Given the description of an element on the screen output the (x, y) to click on. 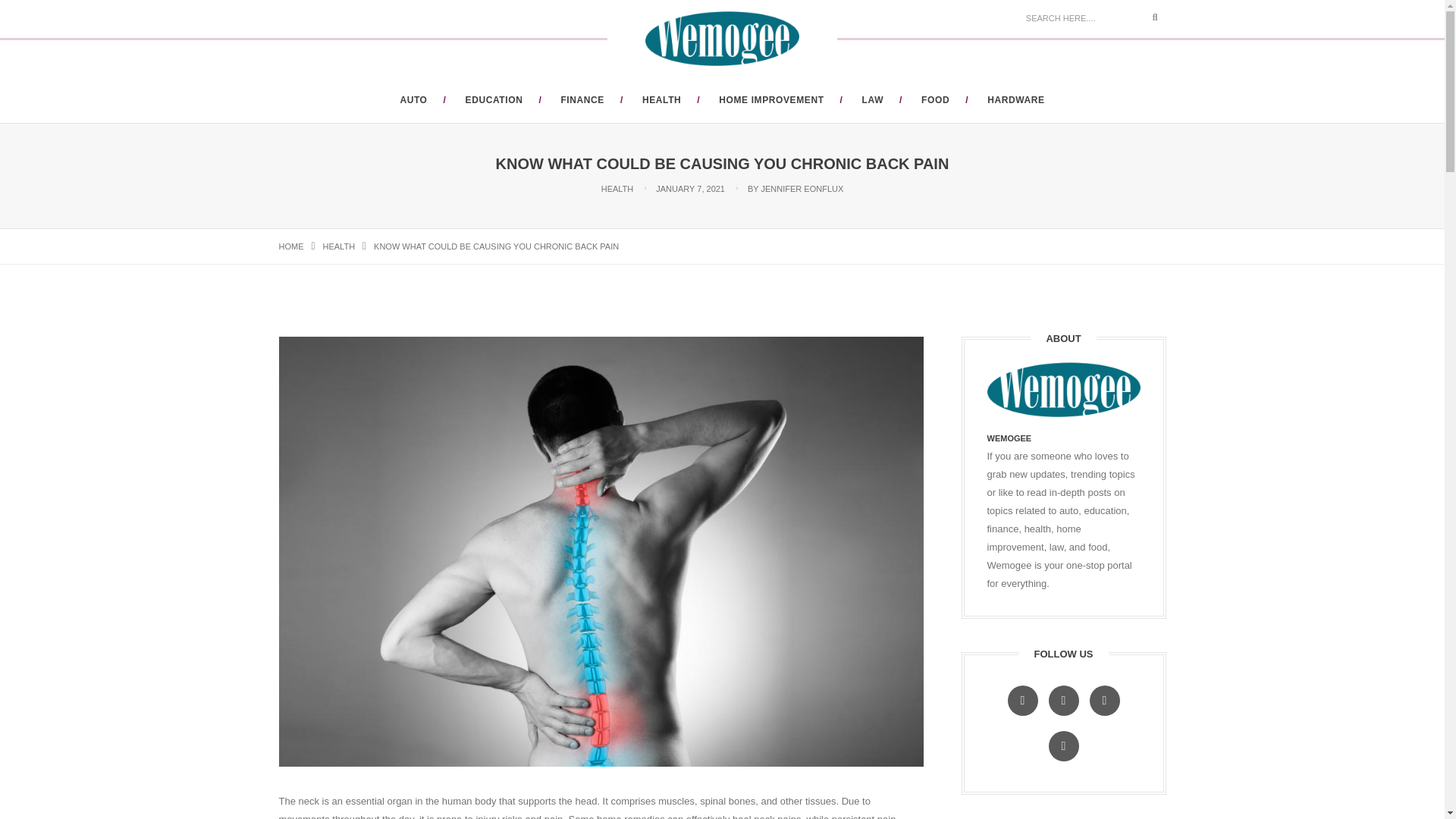
Health (339, 245)
FOOD (935, 100)
EDUCATION (493, 100)
HEALTH (617, 188)
HEALTH (339, 245)
Browse to: Home (291, 245)
JENNIFER EONFLUX (802, 188)
HEALTH (661, 100)
AUTO (412, 100)
HARDWARE (1015, 100)
HOME IMPROVEMENT (771, 100)
WEMOGEE (1009, 438)
FINANCE (582, 100)
LAW (872, 100)
HOME (291, 245)
